Given the description of an element on the screen output the (x, y) to click on. 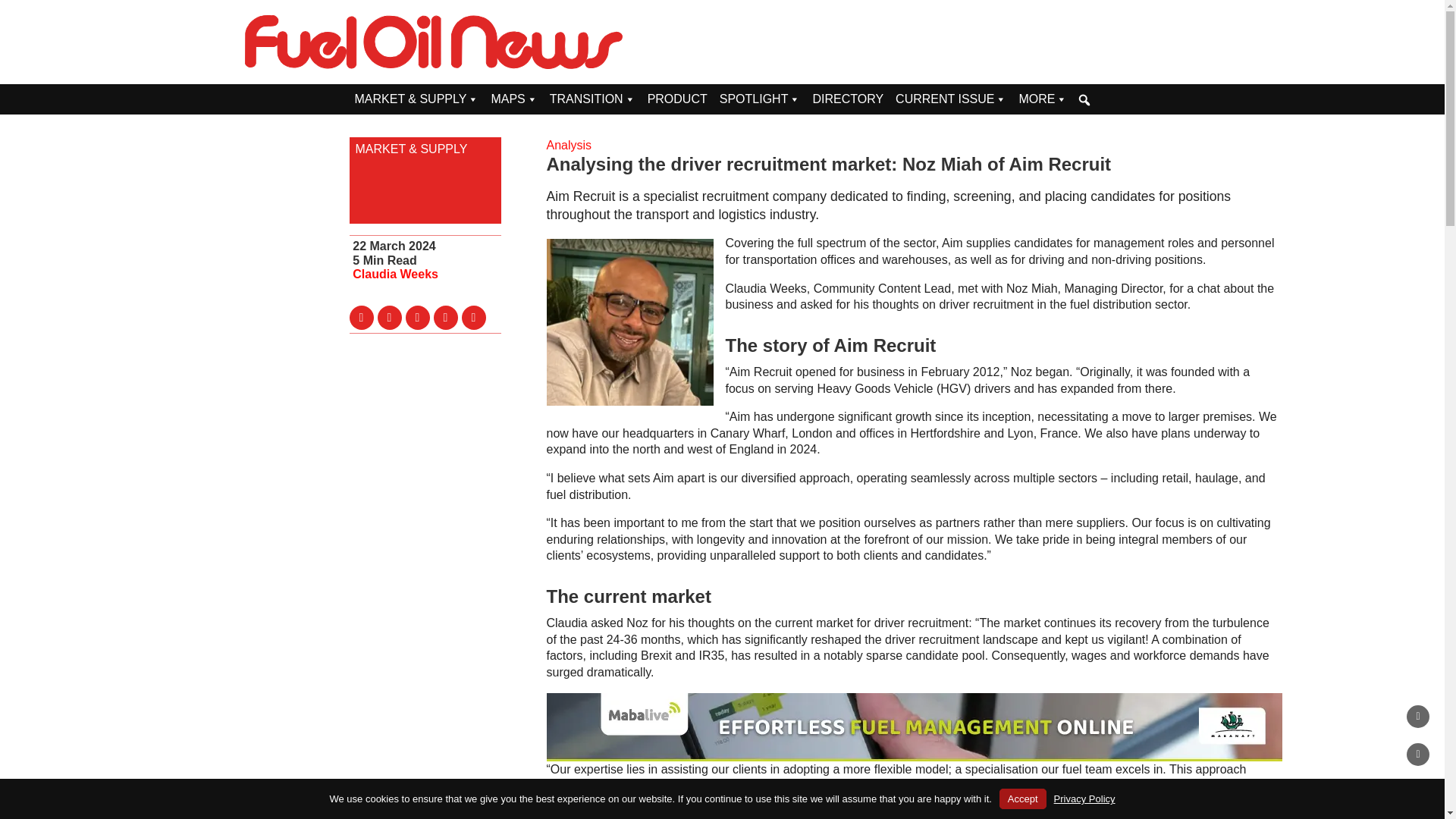
CURRENT ISSUE (950, 99)
Claudia Weeks (395, 273)
TRANSITION (592, 99)
Share on Email (445, 317)
SPOTLIGHT (759, 99)
DIRECTORY (847, 99)
MORE (1042, 99)
link to home page (433, 41)
Share on WhatsApp (472, 317)
Share on LinkedIn (416, 317)
